Given the description of an element on the screen output the (x, y) to click on. 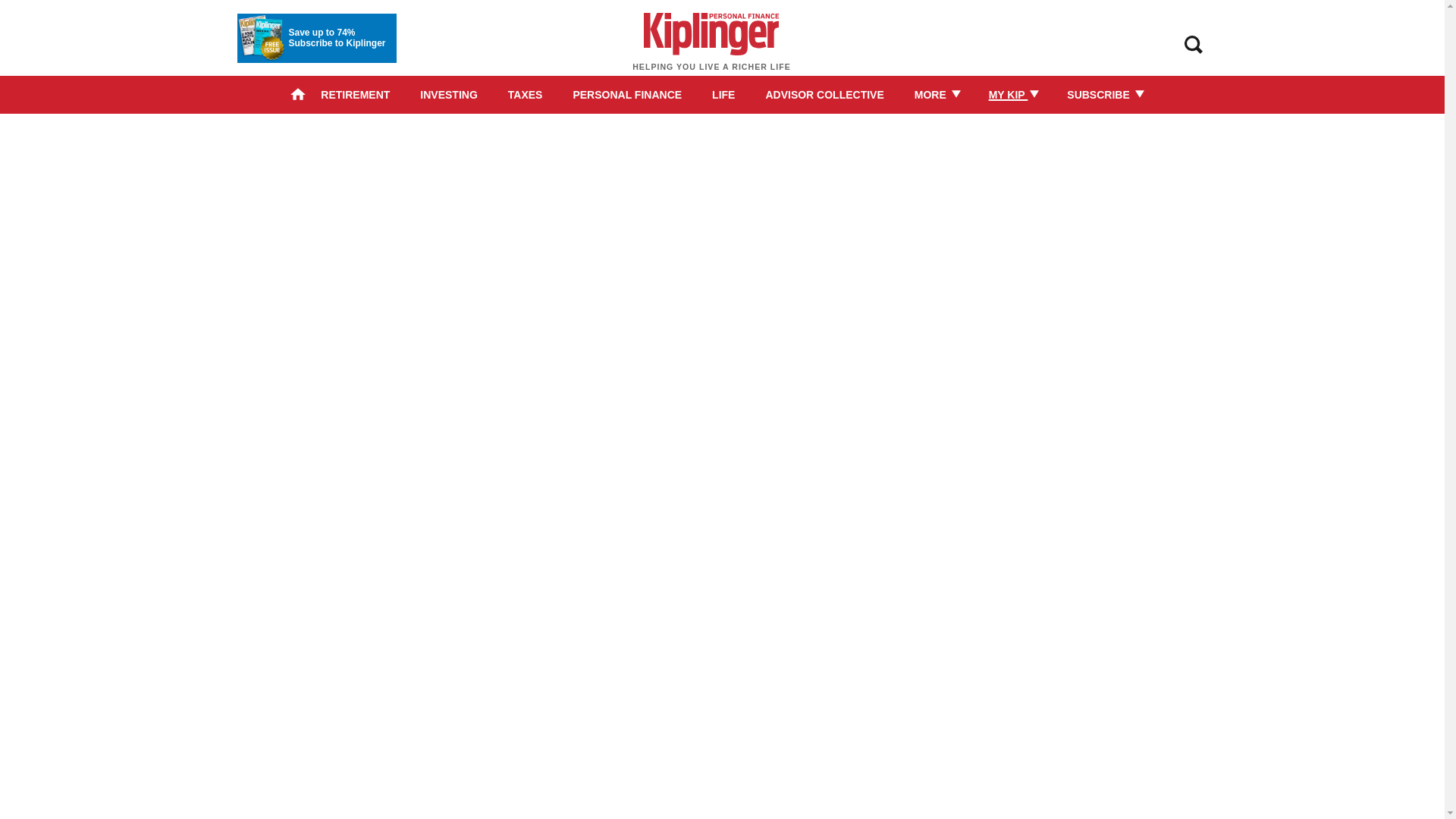
INVESTING (448, 94)
TAXES (525, 94)
LIFE (723, 94)
HELPING YOU LIVE A RICHER LIFE (710, 48)
PERSONAL FINANCE (626, 94)
RETIREMENT (355, 94)
